Given the description of an element on the screen output the (x, y) to click on. 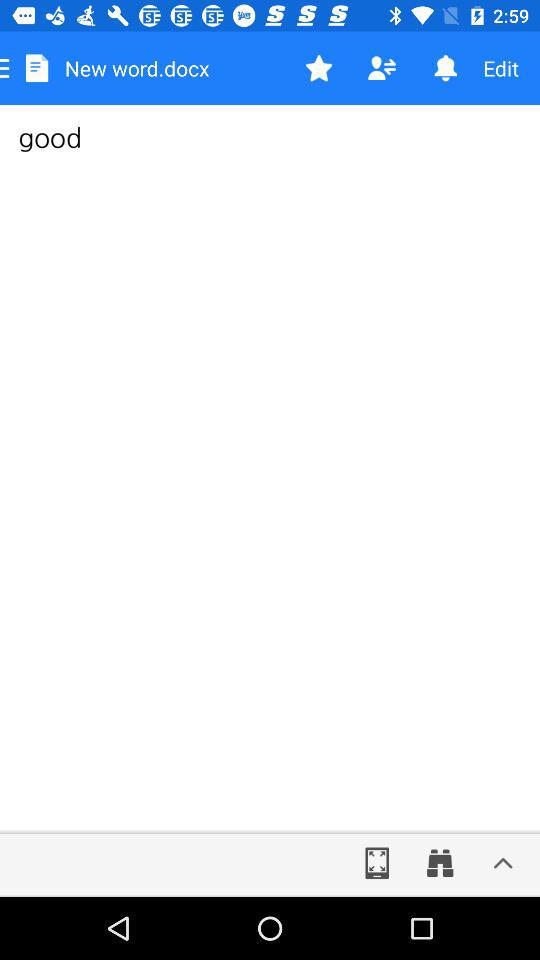
make screen larger (377, 863)
